Given the description of an element on the screen output the (x, y) to click on. 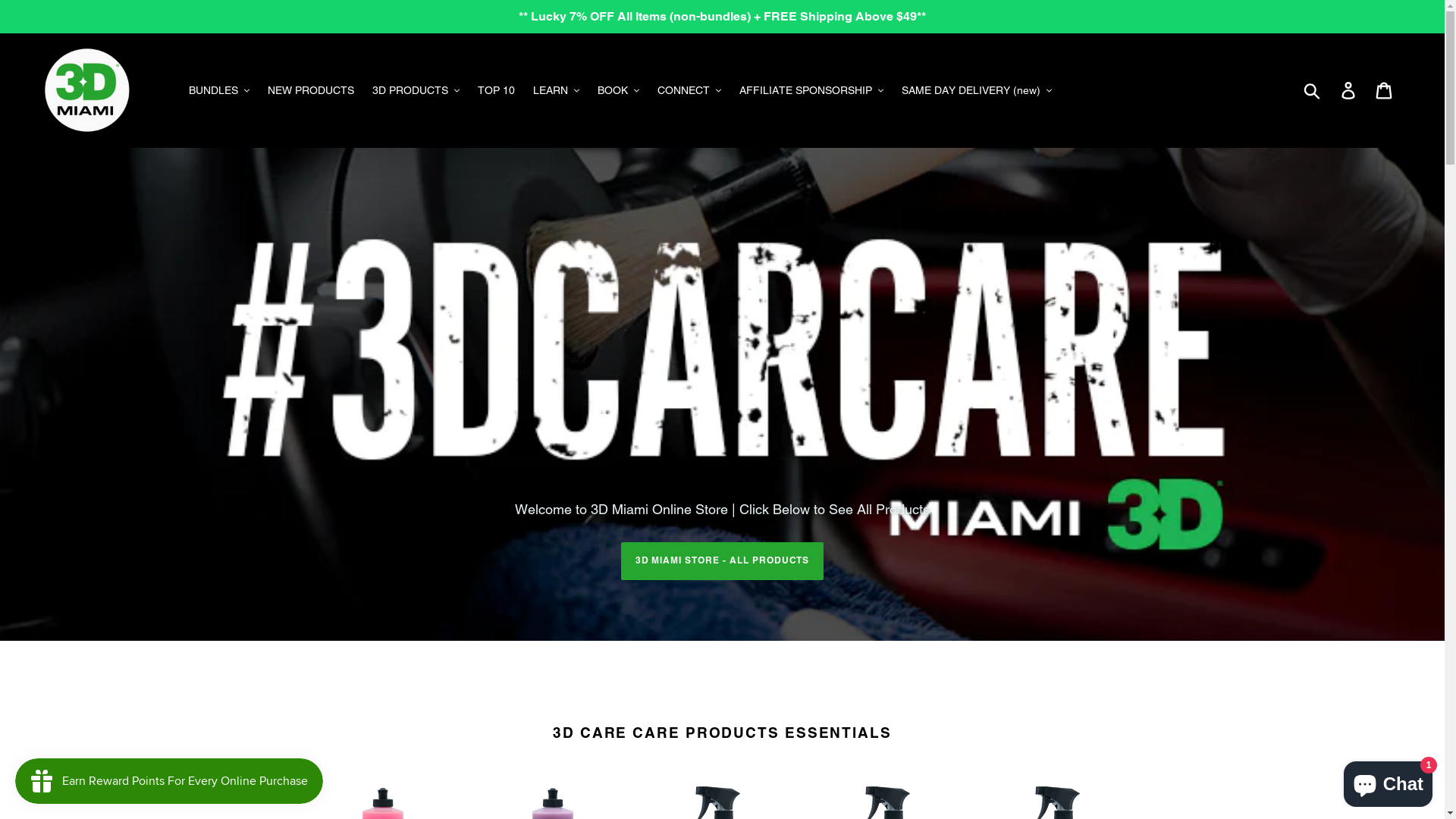
NEW PRODUCTS Element type: text (310, 90)
Submit Element type: text (1312, 89)
Cart Element type: text (1384, 90)
Log in Element type: text (1349, 90)
TOP 10 Element type: text (496, 90)
Shopify online store chat Element type: hover (1388, 780)
3D MIAMI STORE - ALL PRODUCTS Element type: text (722, 561)
Smile.io Rewards Program Launcher Element type: hover (169, 780)
